Given the description of an element on the screen output the (x, y) to click on. 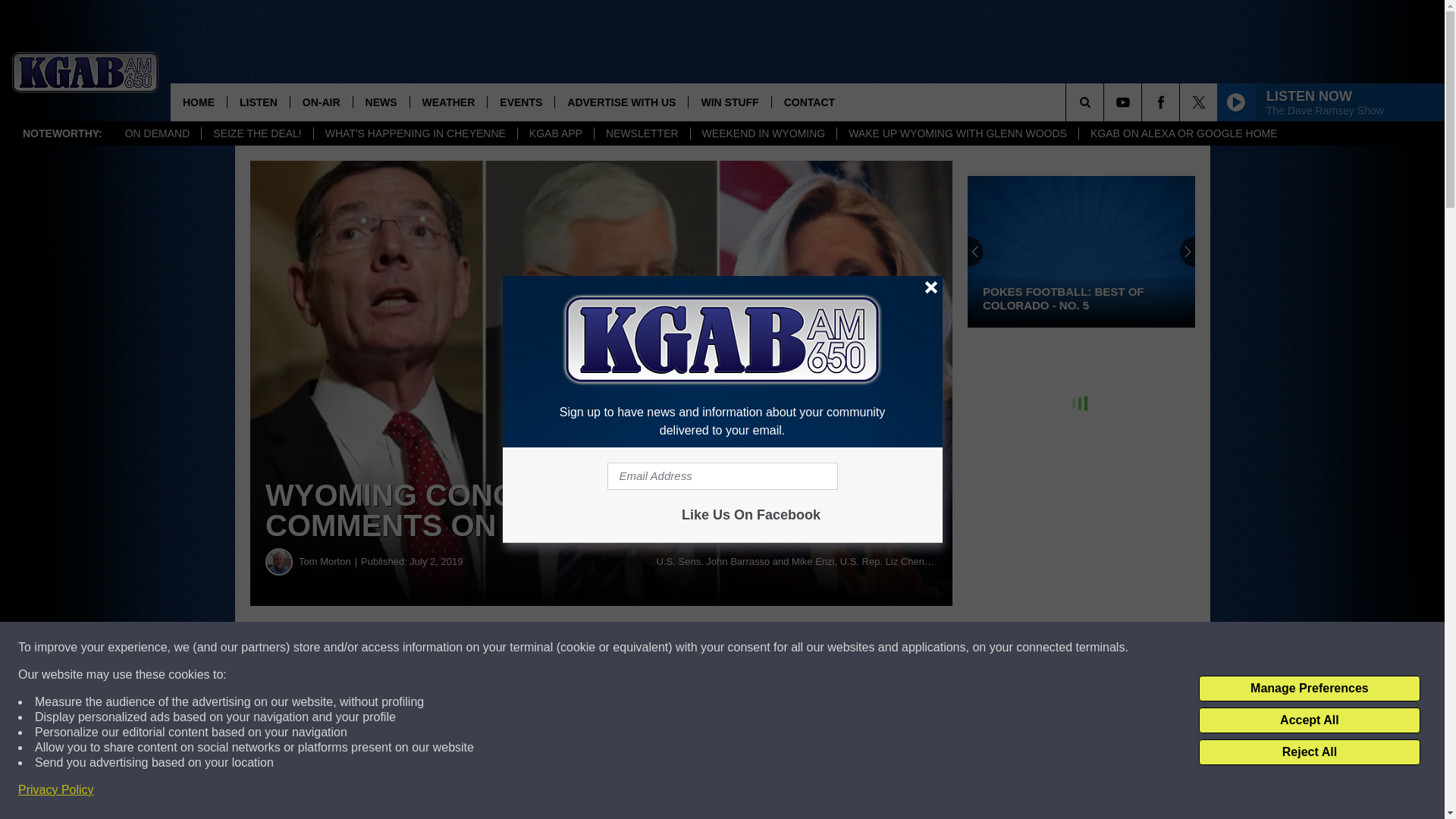
WHAT'S HAPPENING IN CHEYENNE (414, 133)
Accept All (1309, 720)
HOME (198, 102)
Share on Facebook (460, 647)
NEWS (380, 102)
Reject All (1309, 751)
NOTEWORTHY: (62, 133)
SEARCH (1106, 102)
ON DEMAND (157, 133)
SEIZE THE DEAL! (256, 133)
NEWSLETTER (642, 133)
KGAB APP (555, 133)
Share on Twitter (741, 647)
Privacy Policy (55, 789)
WEEKEND IN WYOMING (763, 133)
